Given the description of an element on the screen output the (x, y) to click on. 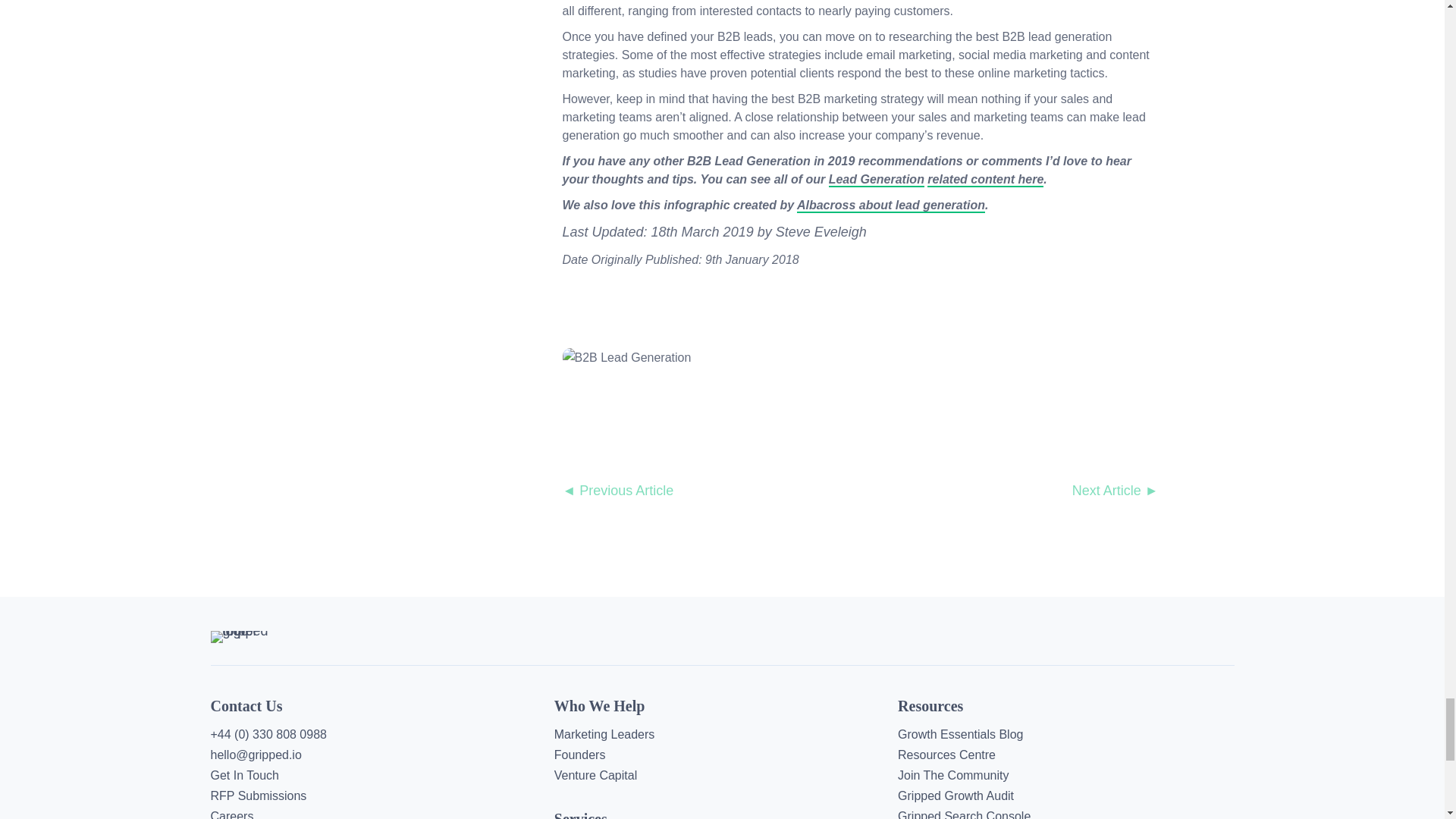
related content here (985, 179)
gripped logo footer (248, 636)
Lead Generation (876, 179)
Albacross about lead generation (890, 205)
